Given the description of an element on the screen output the (x, y) to click on. 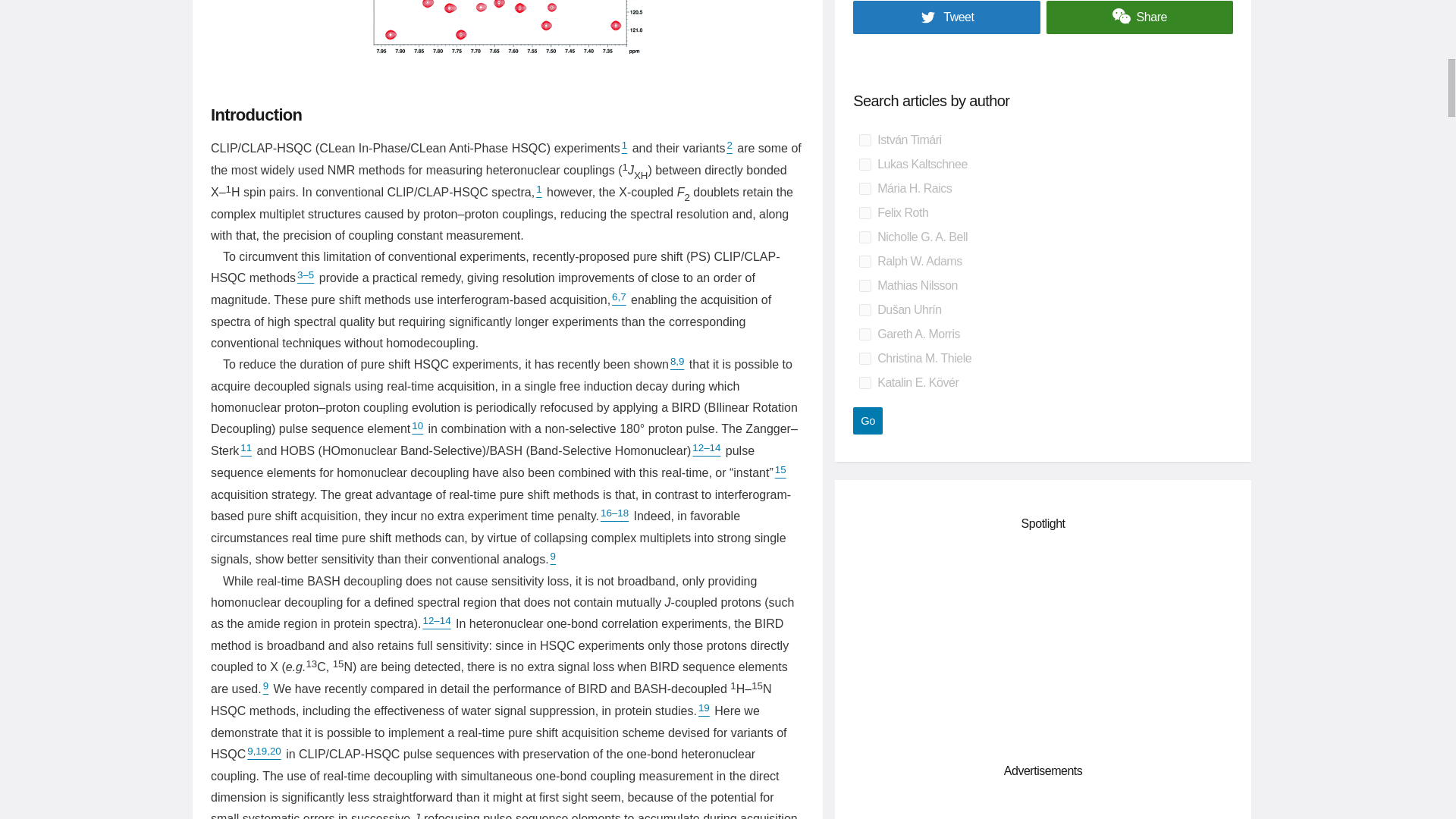
on (864, 213)
on (864, 140)
on (864, 382)
on (864, 309)
on (864, 285)
on (864, 164)
on (864, 358)
on (864, 188)
on (864, 261)
1 (624, 148)
2 (729, 148)
Go (867, 420)
on (864, 236)
on (864, 334)
1 (538, 191)
